Given the description of an element on the screen output the (x, y) to click on. 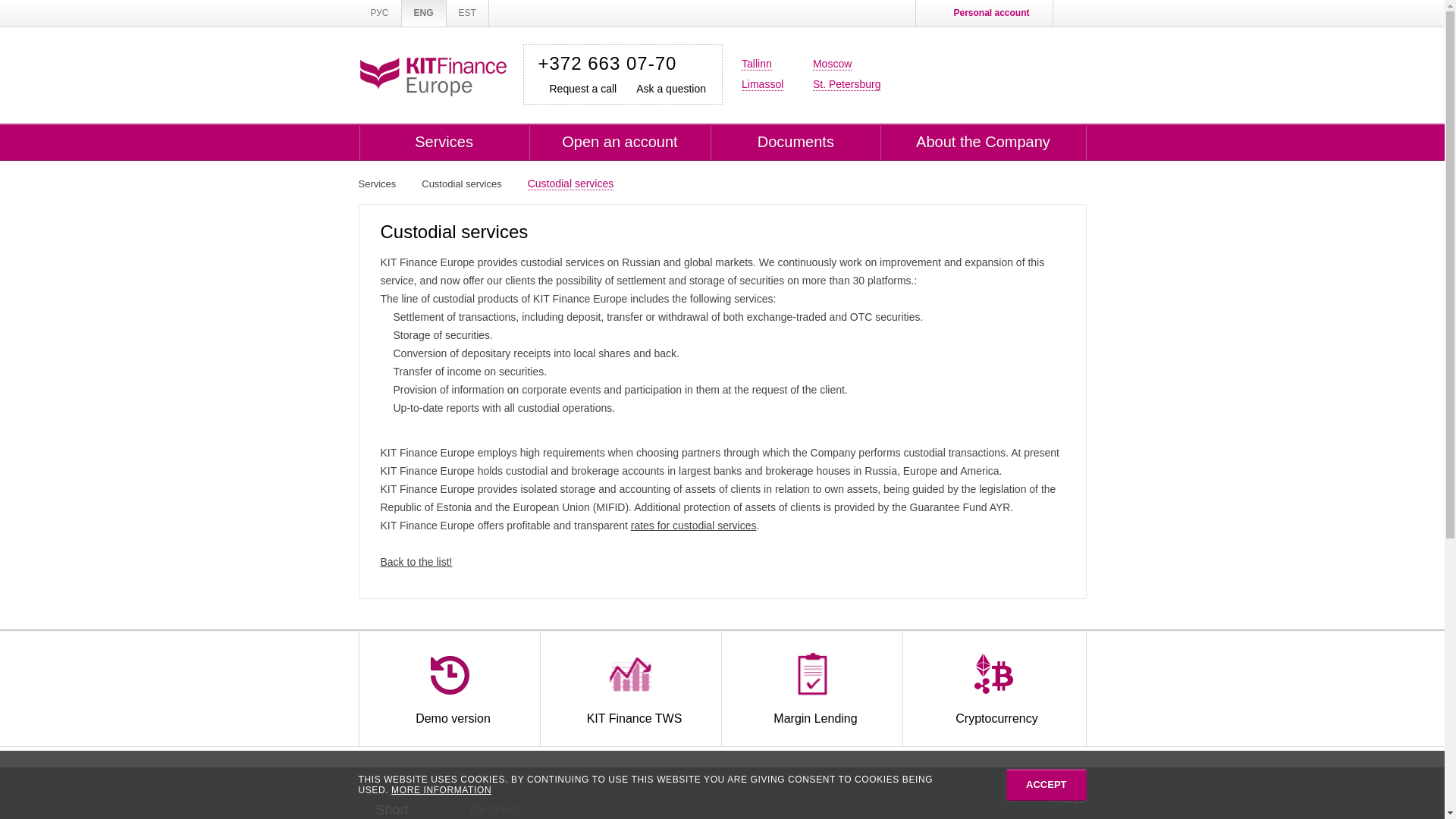
Limassol (762, 83)
Open an account (620, 141)
Moscow (831, 63)
Services (444, 141)
Personal account (983, 13)
Documents (795, 141)
About the Company (982, 141)
EST (467, 13)
Tallinn (756, 63)
St. Petersburg (846, 83)
